Given the description of an element on the screen output the (x, y) to click on. 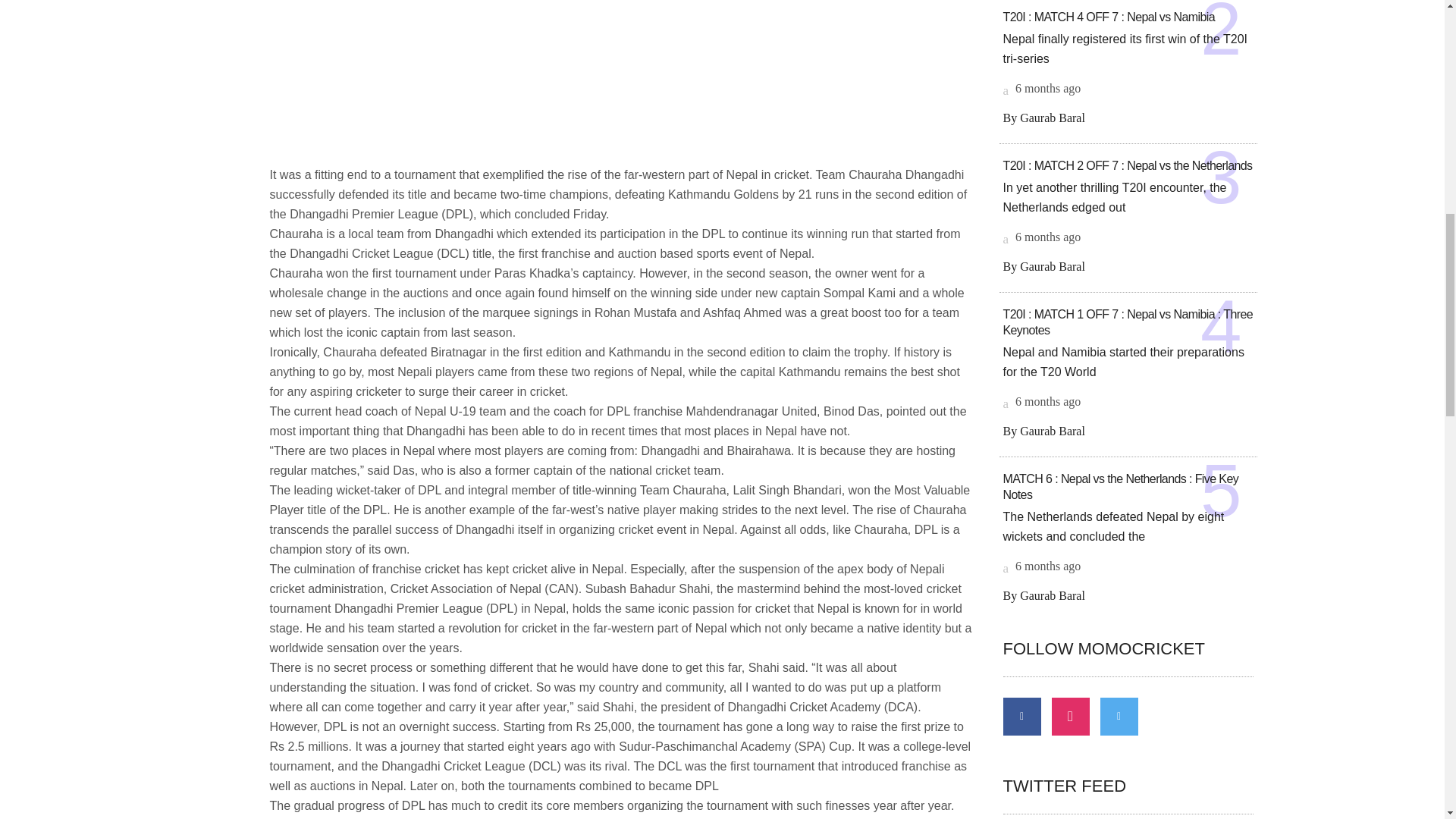
MATCH 6 : Nepal vs the Netherlands : Five Key Notes (1121, 486)
T20I : MATCH 1 OFF 7 : Nepal vs Namibia : Three Keynotes (1127, 321)
T20I : MATCH 2 OFF 7 : Nepal vs the Netherlands (1127, 164)
T20I : MATCH 4 OFF 7 : Nepal vs Namibia (1108, 16)
